Given the description of an element on the screen output the (x, y) to click on. 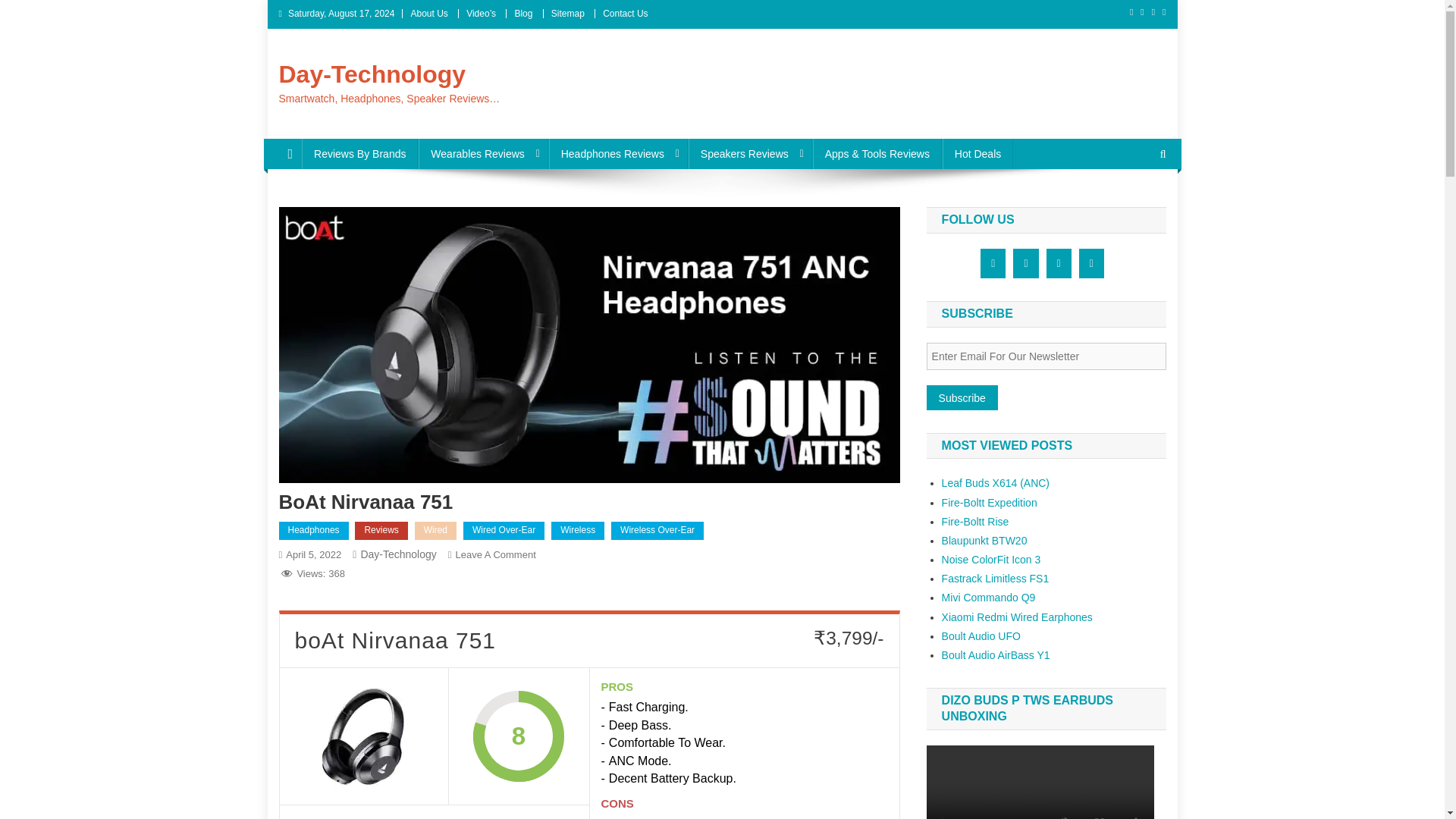
Wearables Reviews (483, 153)
Reviews By Brands (359, 153)
Contact Us (624, 13)
Subscribe (961, 397)
boAt Nirvanaa 751 (363, 736)
About Us (428, 13)
Headphones Reviews (617, 153)
Blog (522, 13)
Day-Technology (372, 73)
Sitemap (568, 13)
